Given the description of an element on the screen output the (x, y) to click on. 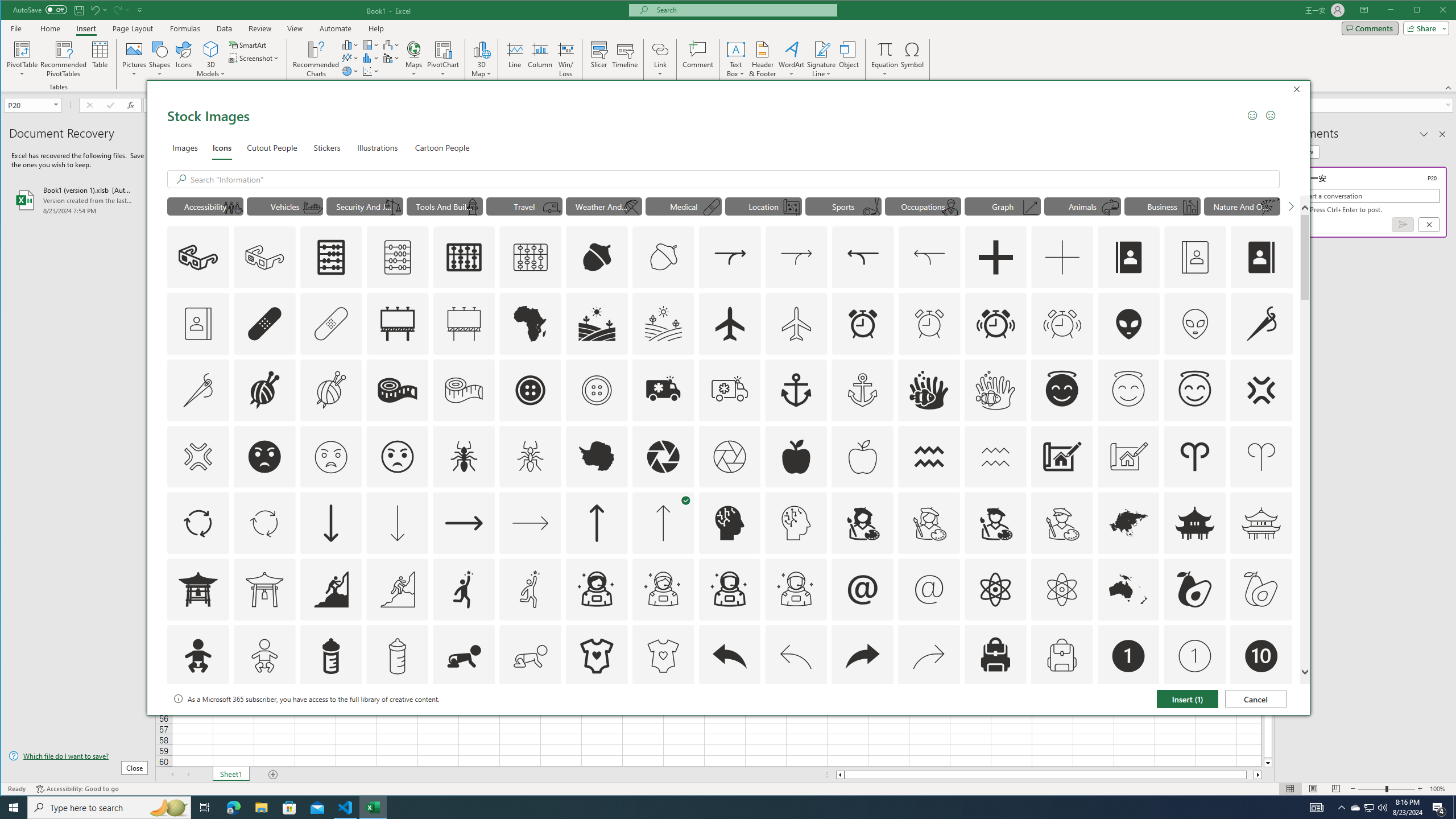
AutomationID: Icons_Aspiration (330, 589)
"Vehicles" Icons. (285, 206)
AutomationID: Icons_Badge9_M (1260, 721)
AutomationID: Icons_Asia (1128, 522)
Equation (884, 48)
AutomationID: Icons_Avocado_M (1260, 589)
AutomationID: Icons_Add (995, 256)
AutomationID: Icons_LinearGraph_LTR_M (1030, 207)
